Given the description of an element on the screen output the (x, y) to click on. 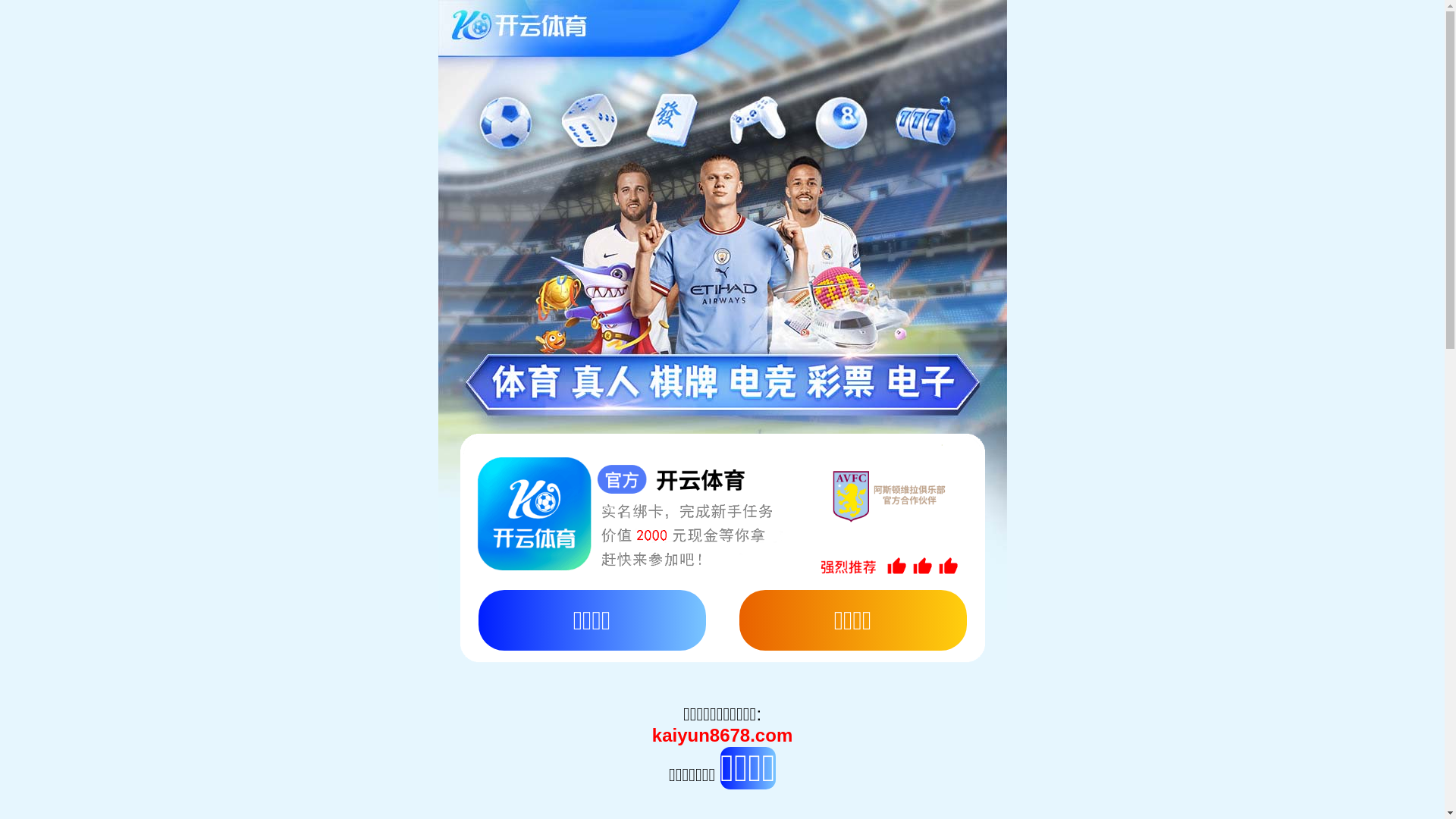
Toggle navigation Element type: text (51, 142)
English Element type: hover (133, 31)
